Given the description of an element on the screen output the (x, y) to click on. 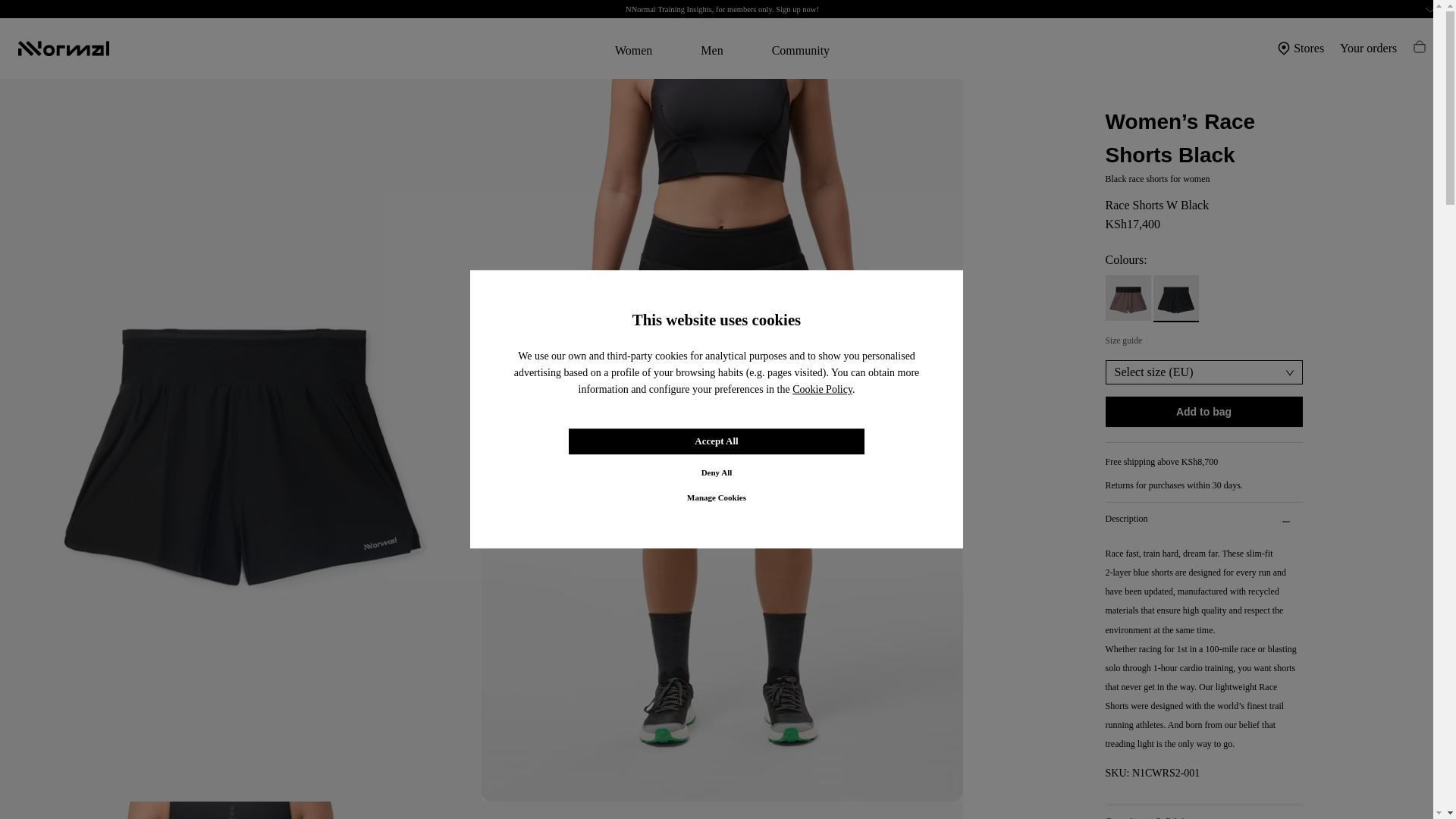
Cookie Policy (821, 389)
Community (800, 50)
NNormal Training Insights, for members only. Sign up now! (722, 8)
Stores (1300, 48)
